Given the description of an element on the screen output the (x, y) to click on. 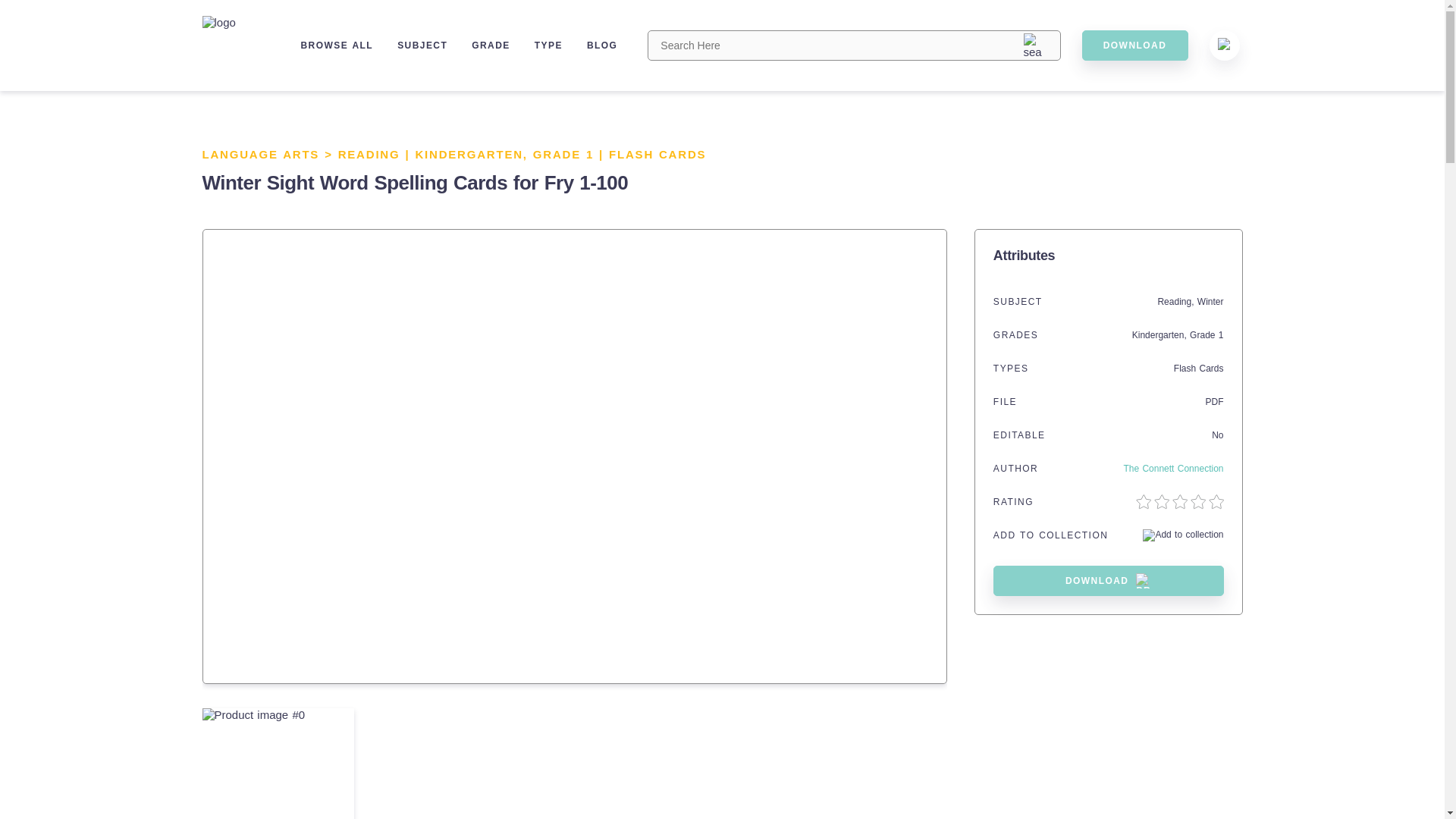
Winter (1210, 301)
PDF (1214, 401)
DOWNLOAD (1108, 580)
Kindergarten (1158, 335)
BLOG (601, 45)
FLASH CARDS (657, 154)
The Connett Connection (1172, 468)
READING (368, 154)
KINDERGARTEN (468, 154)
LANGUAGE ARTS (260, 154)
Flash Cards (1198, 368)
DOWNLOAD (1134, 45)
Reading, (1176, 301)
